Given the description of an element on the screen output the (x, y) to click on. 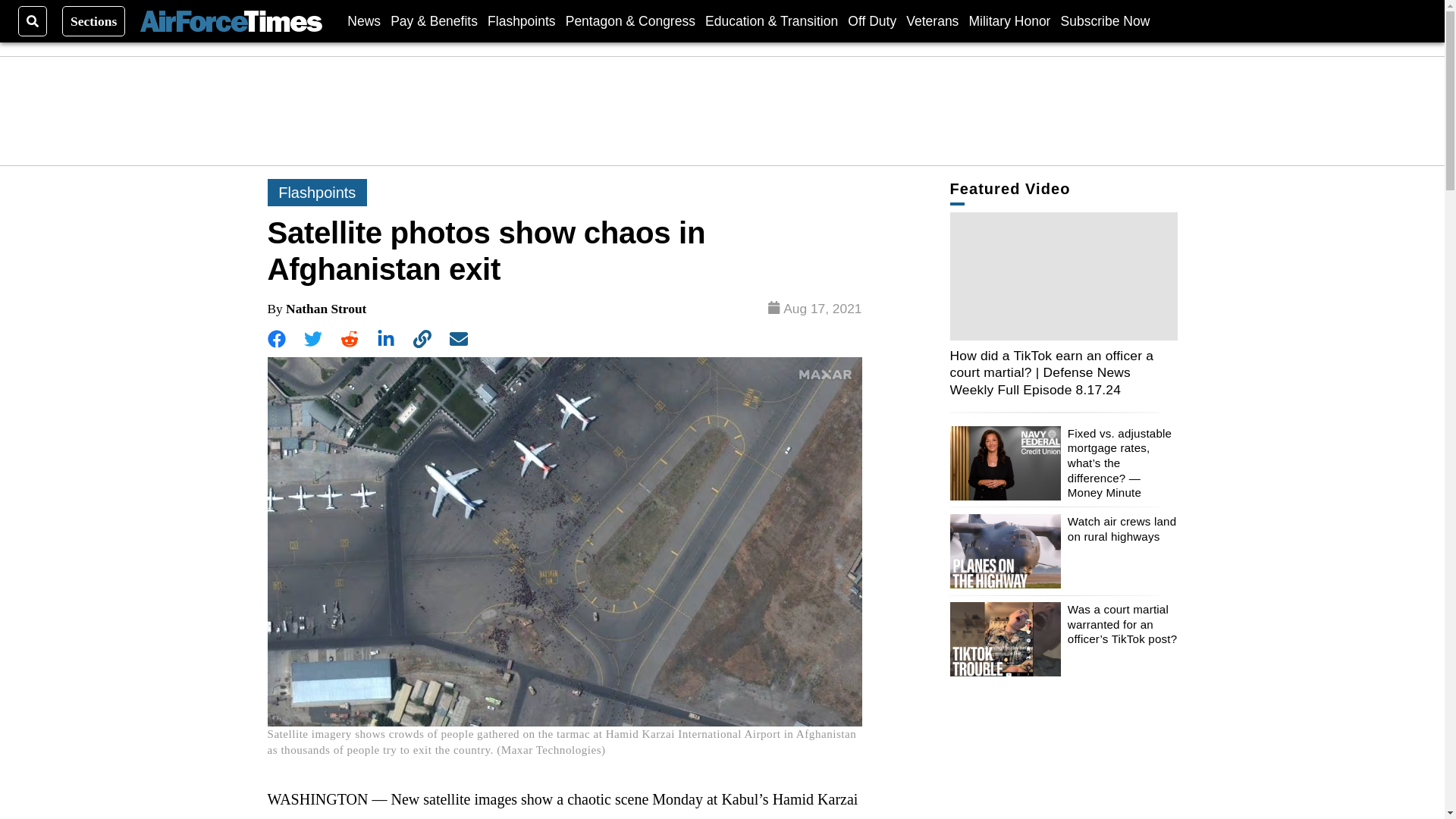
Air Force Times Logo (230, 20)
News (363, 20)
Off Duty (871, 20)
Flashpoints (521, 20)
Sections (93, 20)
Veterans (931, 20)
Military Honor (1010, 20)
